Given the description of an element on the screen output the (x, y) to click on. 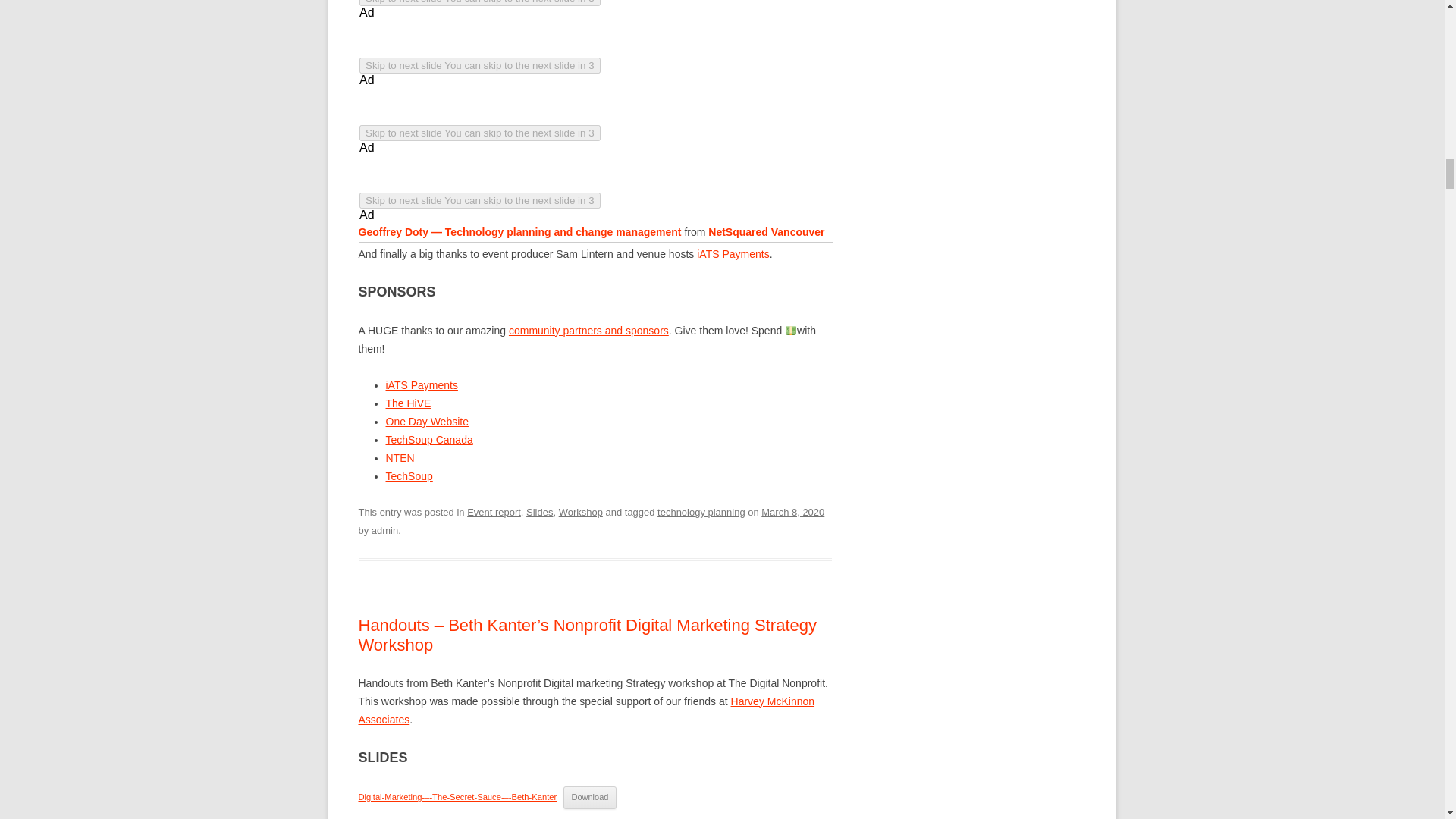
NTEN (399, 458)
View all posts by admin (384, 530)
iATS Payments (732, 254)
NetSquared Vancouver (765, 232)
Event report (494, 511)
Slides (539, 511)
The HiVE (407, 403)
TechSoup (408, 476)
iATS Payments (421, 385)
One Day Website (426, 421)
12:08 am (792, 511)
TechSoup Canada (428, 439)
community partners and sponsors (588, 330)
Workshop (580, 511)
